Given the description of an element on the screen output the (x, y) to click on. 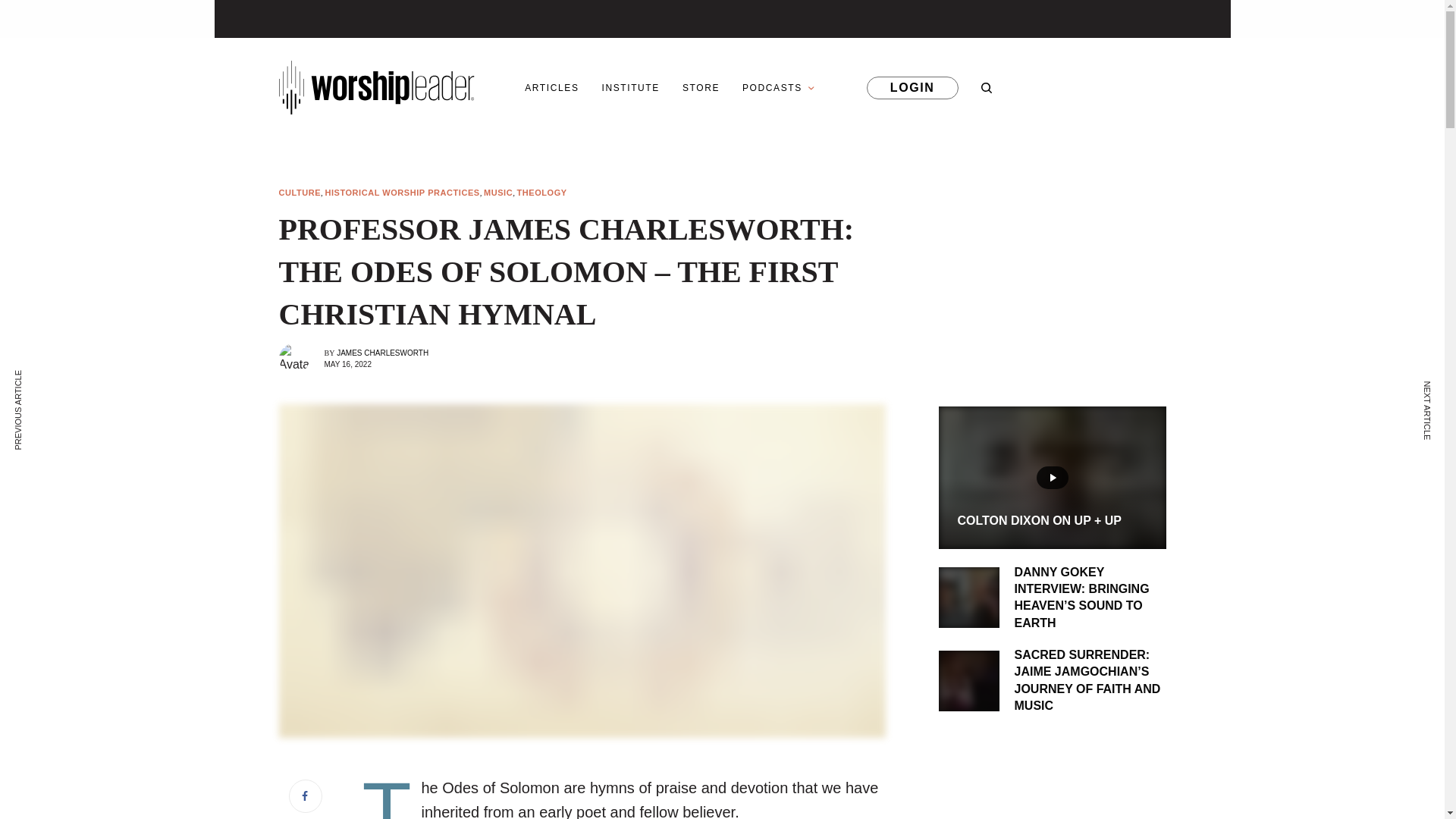
Posts by James Charlesworth (382, 352)
HISTORICAL WORSHIP PRACTICES (401, 193)
MUSIC (497, 193)
CULTURE (300, 193)
TWITTER (1154, 87)
LOGIN (912, 87)
INSTAGRAM (1018, 87)
THEOLOGY (541, 193)
YOUTUBE (1063, 87)
JAMES CHARLESWORTH (382, 352)
